Given the description of an element on the screen output the (x, y) to click on. 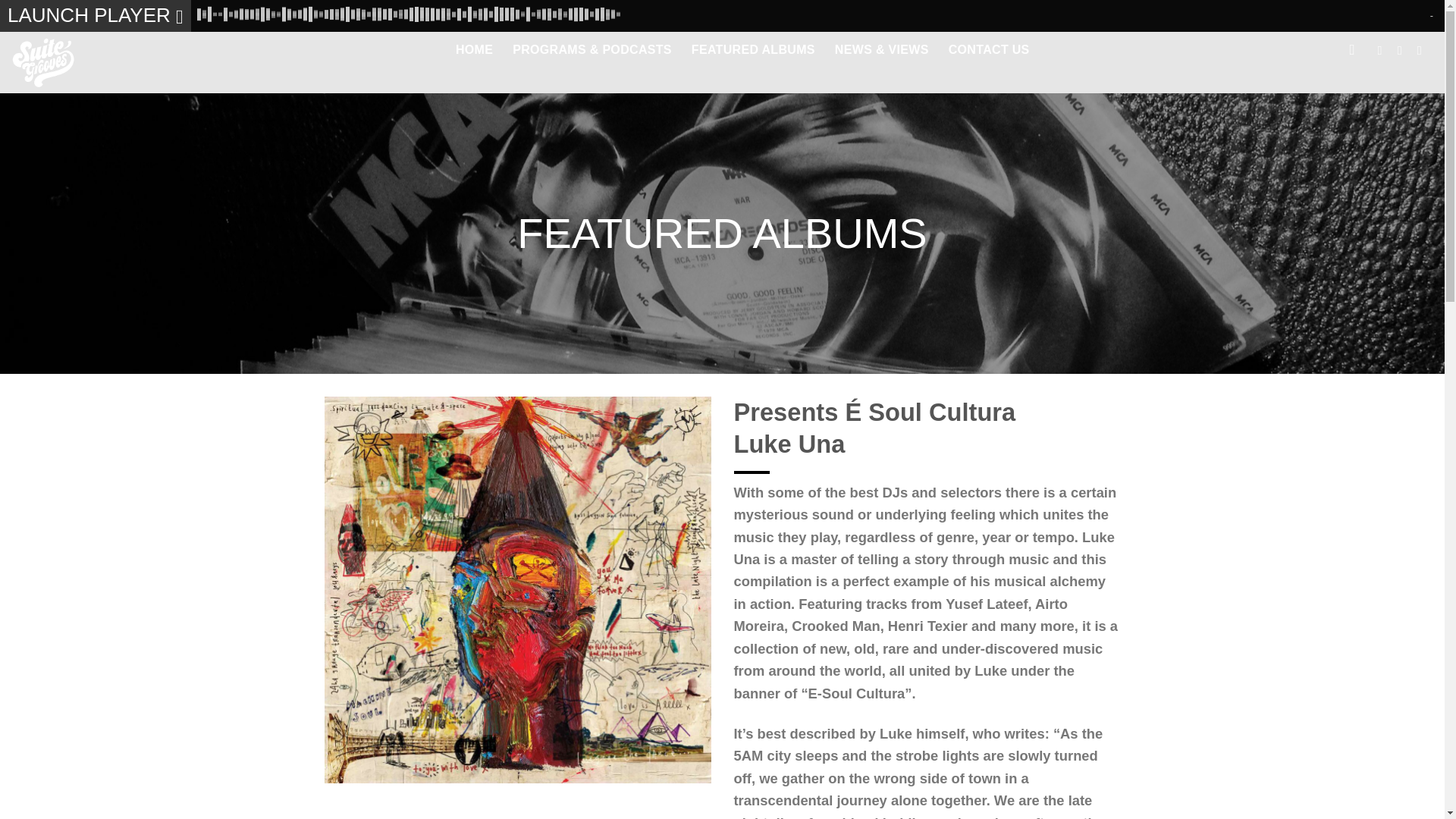
FEATURED ALBUMS (753, 49)
CONTACT US (989, 49)
HOME (474, 49)
Suite Grooves (62, 62)
LAUNCH PLAYER (95, 15)
